Given the description of an element on the screen output the (x, y) to click on. 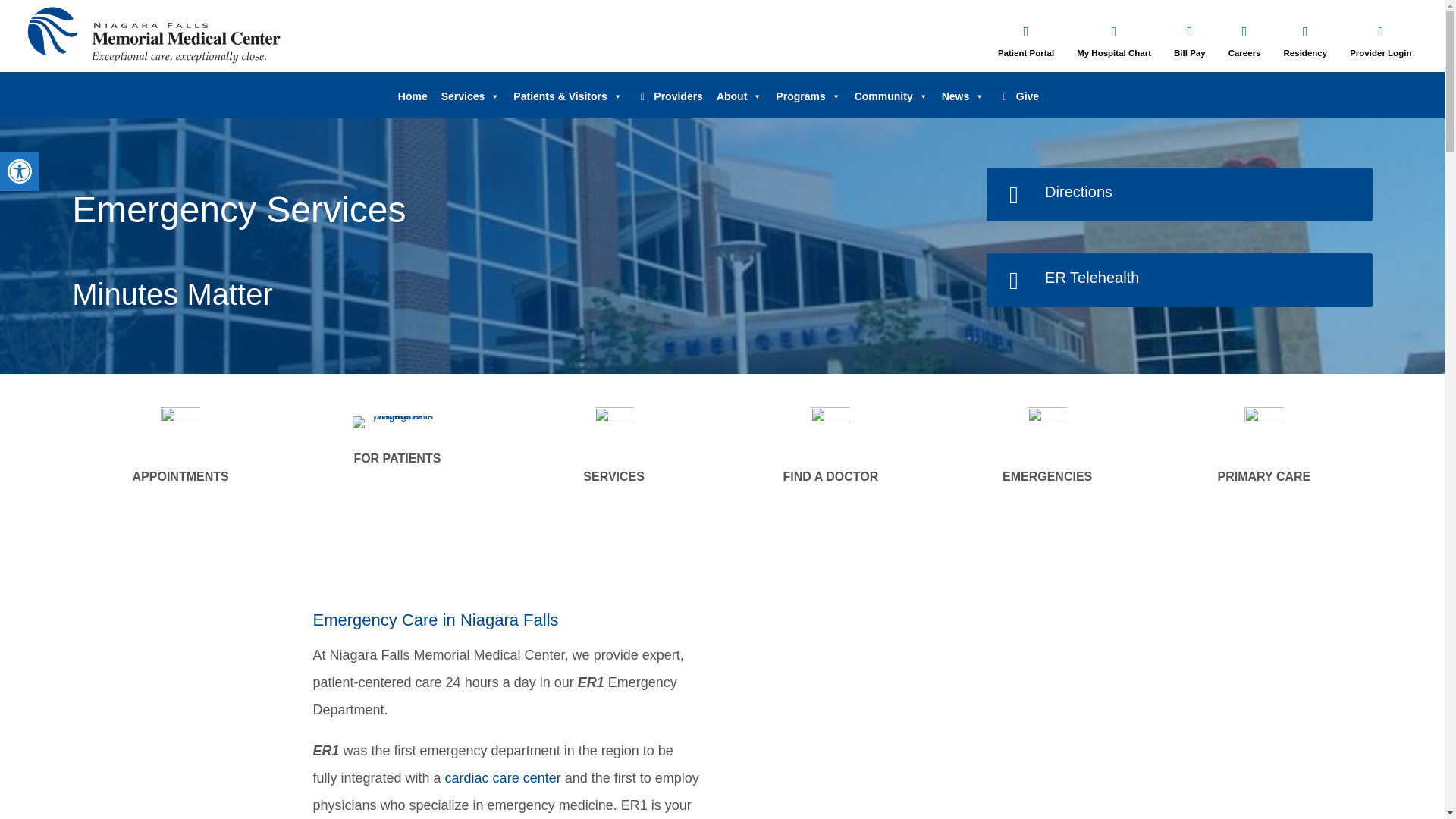
Home (412, 96)
web nfmmc logo (153, 40)
Provider Login (1379, 52)
Services (470, 96)
Accessibility Tools (19, 170)
Patient Portal (1025, 52)
Careers (1244, 52)
My Hospital Chart (1114, 52)
Residency (1305, 52)
Bill Pay (1189, 52)
